Given the description of an element on the screen output the (x, y) to click on. 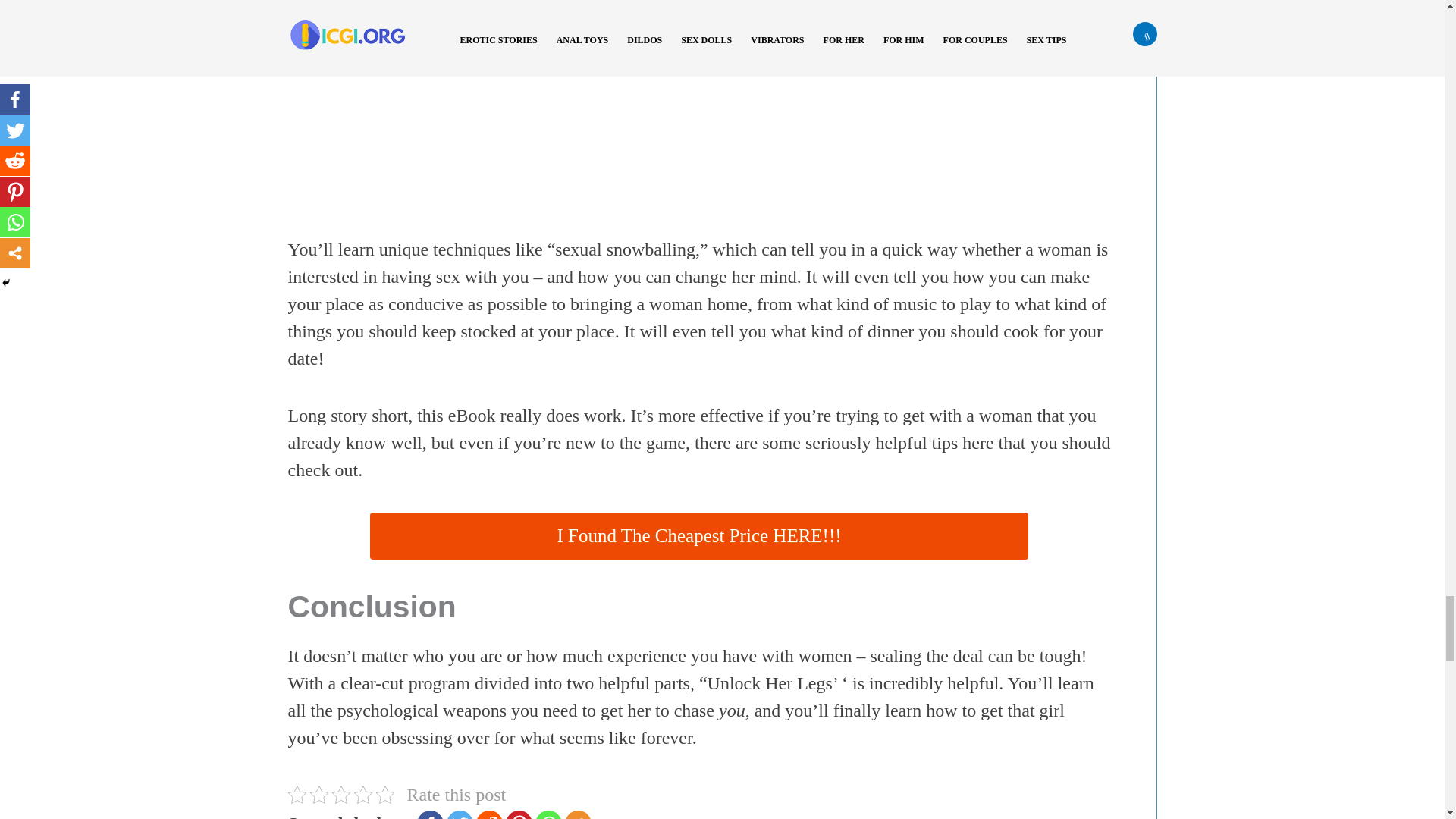
I Found The Cheapest Price HERE!!! (698, 535)
Pinterest (518, 814)
Whatsapp (548, 814)
More (577, 814)
Facebook (430, 814)
Reddit (489, 814)
Twitter (459, 814)
